Given the description of an element on the screen output the (x, y) to click on. 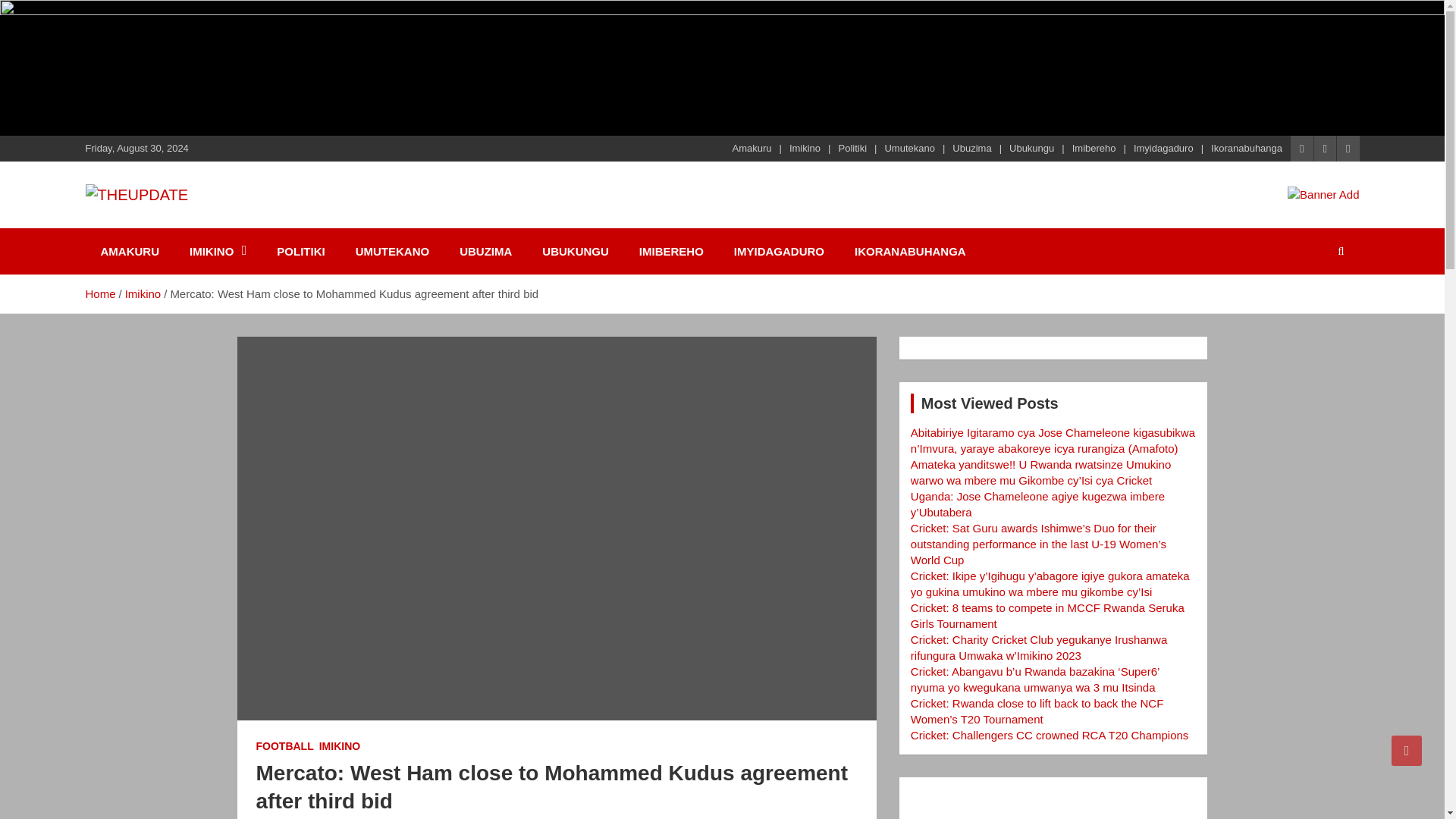
Imyidagaduro (1163, 148)
IMIBEREHO (671, 251)
IMIKINO (218, 251)
Amakuru (751, 148)
Imikino (805, 148)
IKORANABUHANGA (910, 251)
THEUPDATE (175, 224)
Politiki (852, 148)
Umutekano (908, 148)
UBUKUNGU (575, 251)
